Given the description of an element on the screen output the (x, y) to click on. 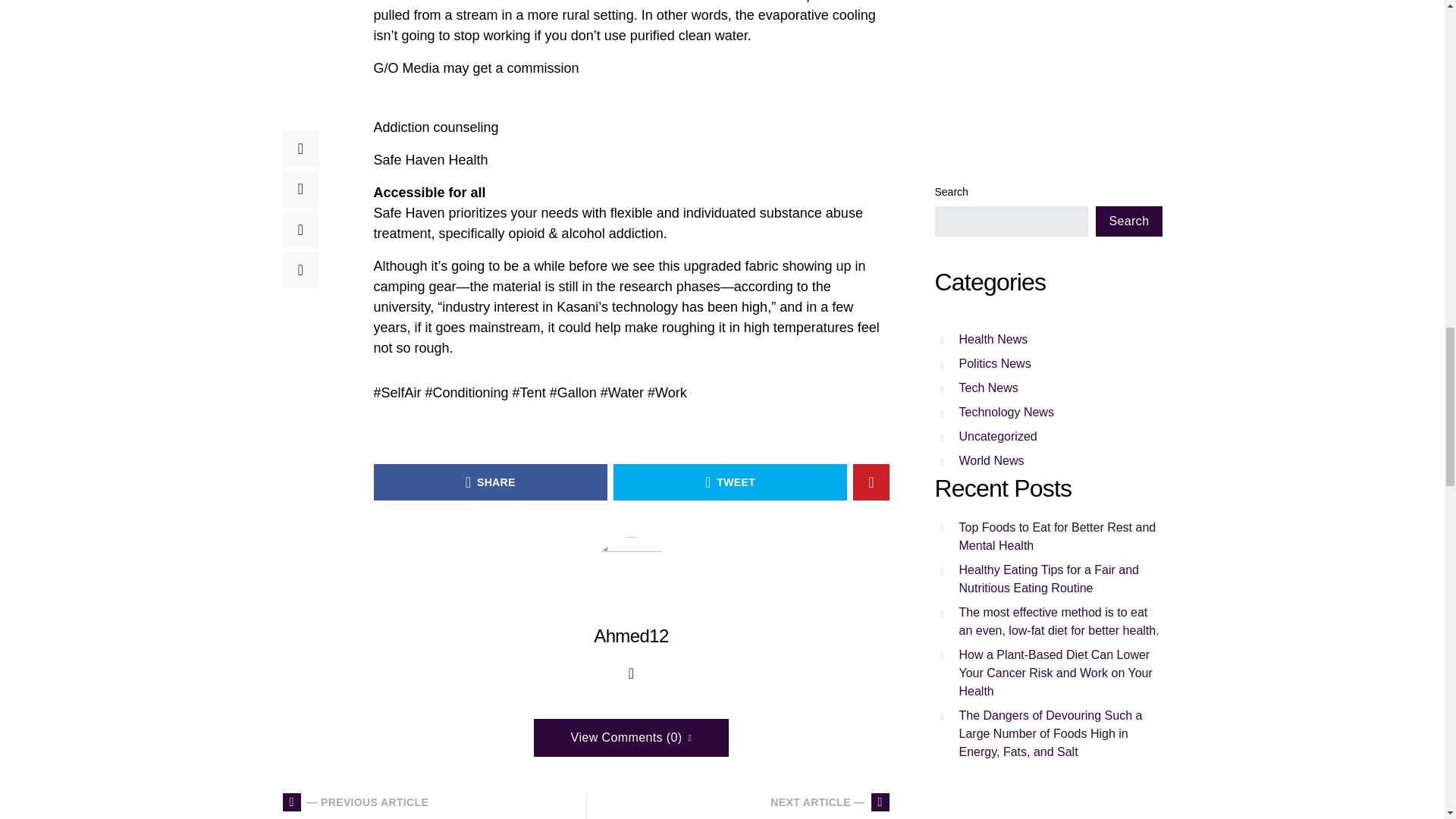
TWEET (729, 482)
SHARE (489, 482)
Ahmed12 (631, 635)
